Given the description of an element on the screen output the (x, y) to click on. 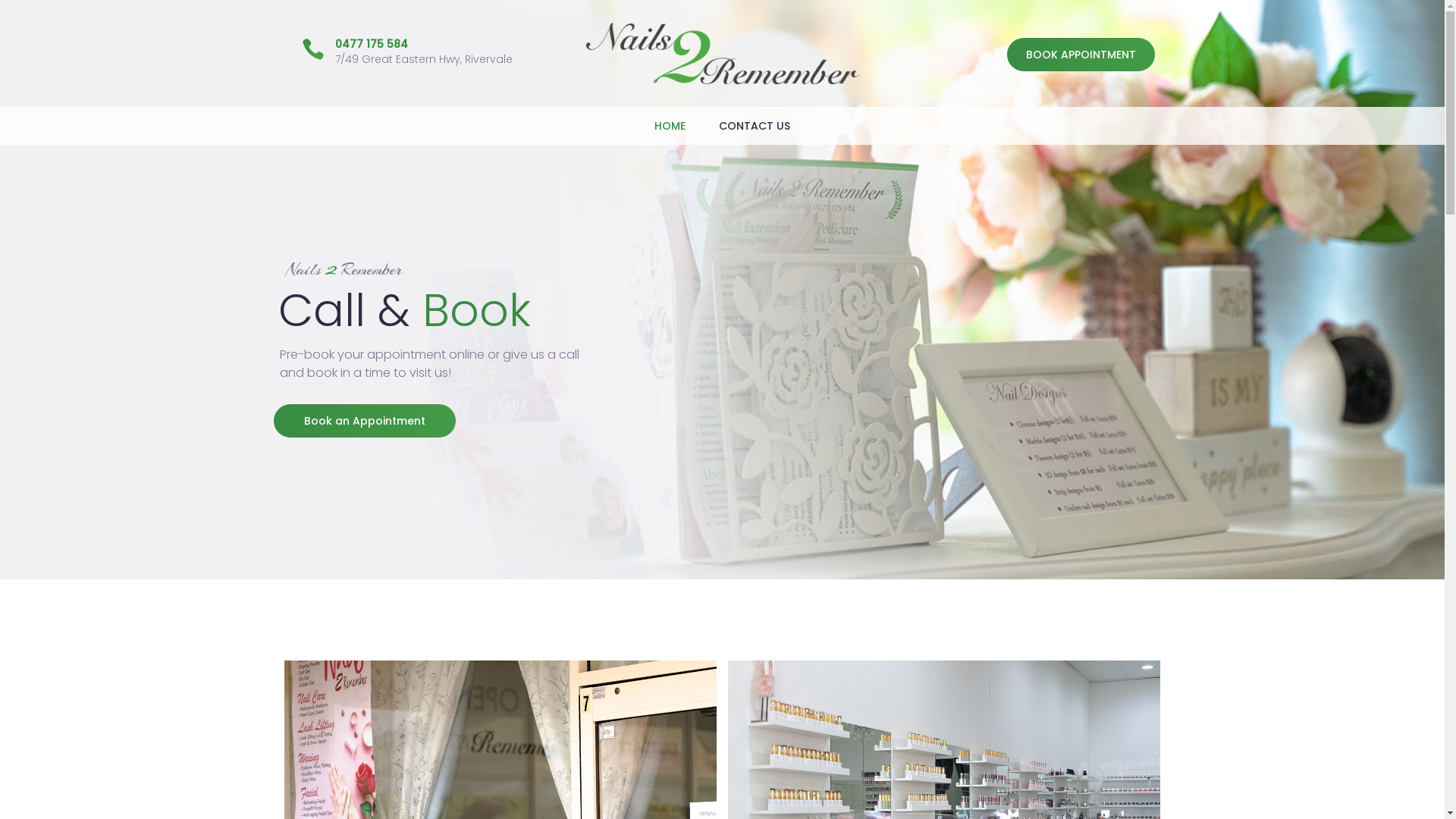
HOME Element type: text (669, 125)
0477 175 584 Element type: text (371, 43)
BOOK APPOINTMENT Element type: text (1080, 54)
CONTACT US Element type: text (754, 125)
